Given the description of an element on the screen output the (x, y) to click on. 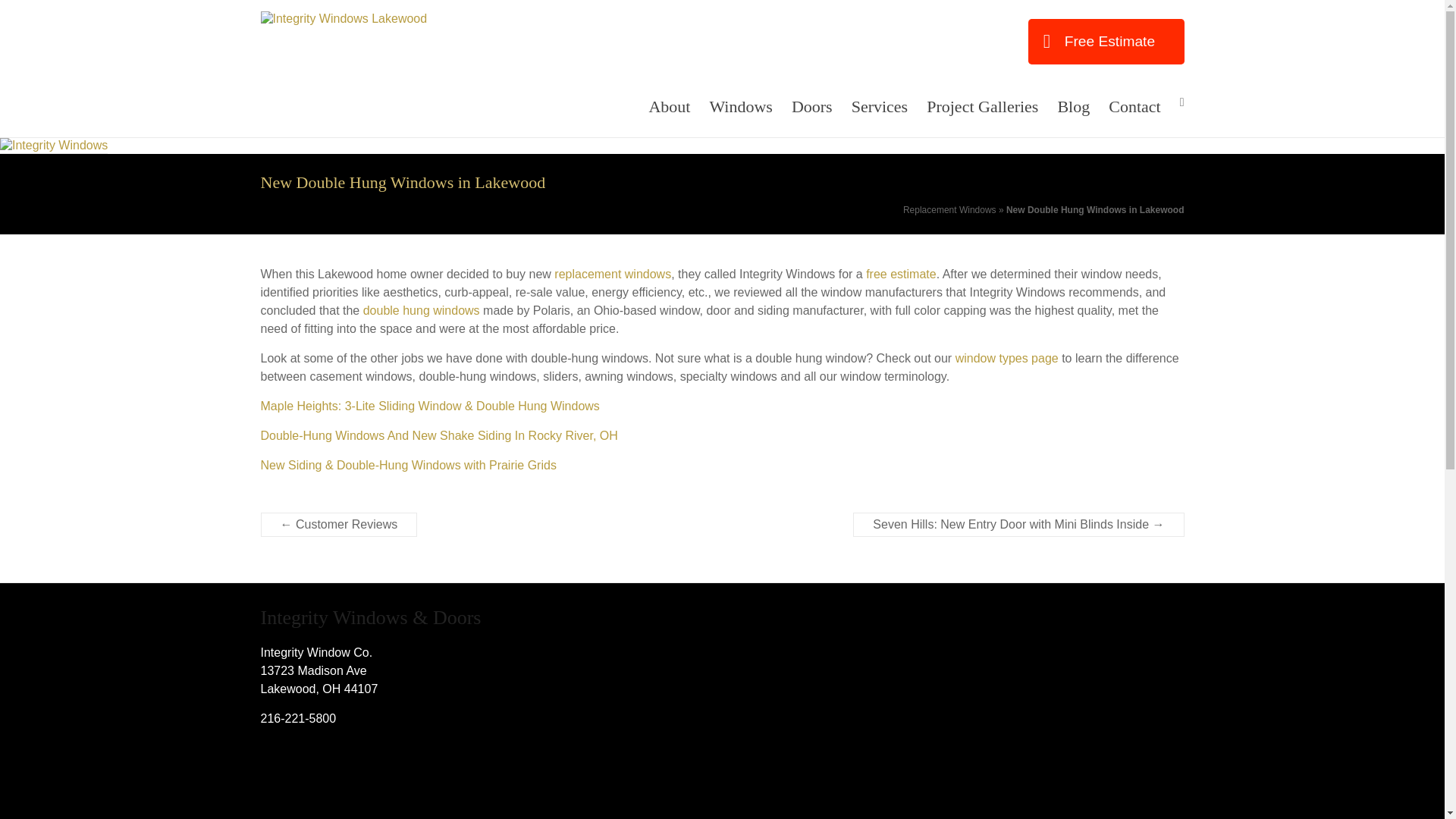
Integrity Windows (53, 144)
Integrity Windows (310, 46)
Windows (740, 106)
Contact (1134, 106)
Doors (812, 106)
Integrity Windows (310, 46)
Services (879, 106)
Free Estimate (1105, 41)
Blog (1073, 106)
Project Galleries (982, 106)
